Given the description of an element on the screen output the (x, y) to click on. 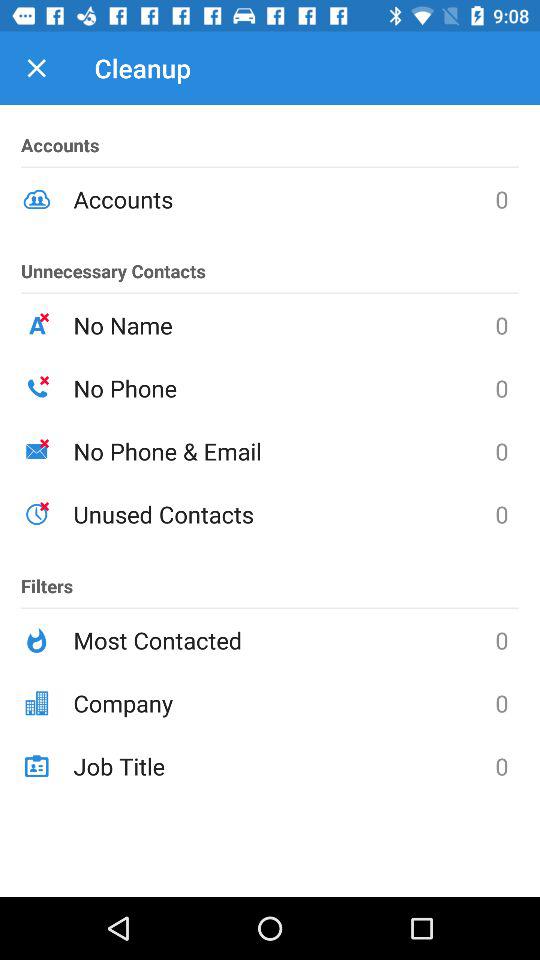
click icon below the 0 (284, 703)
